Given the description of an element on the screen output the (x, y) to click on. 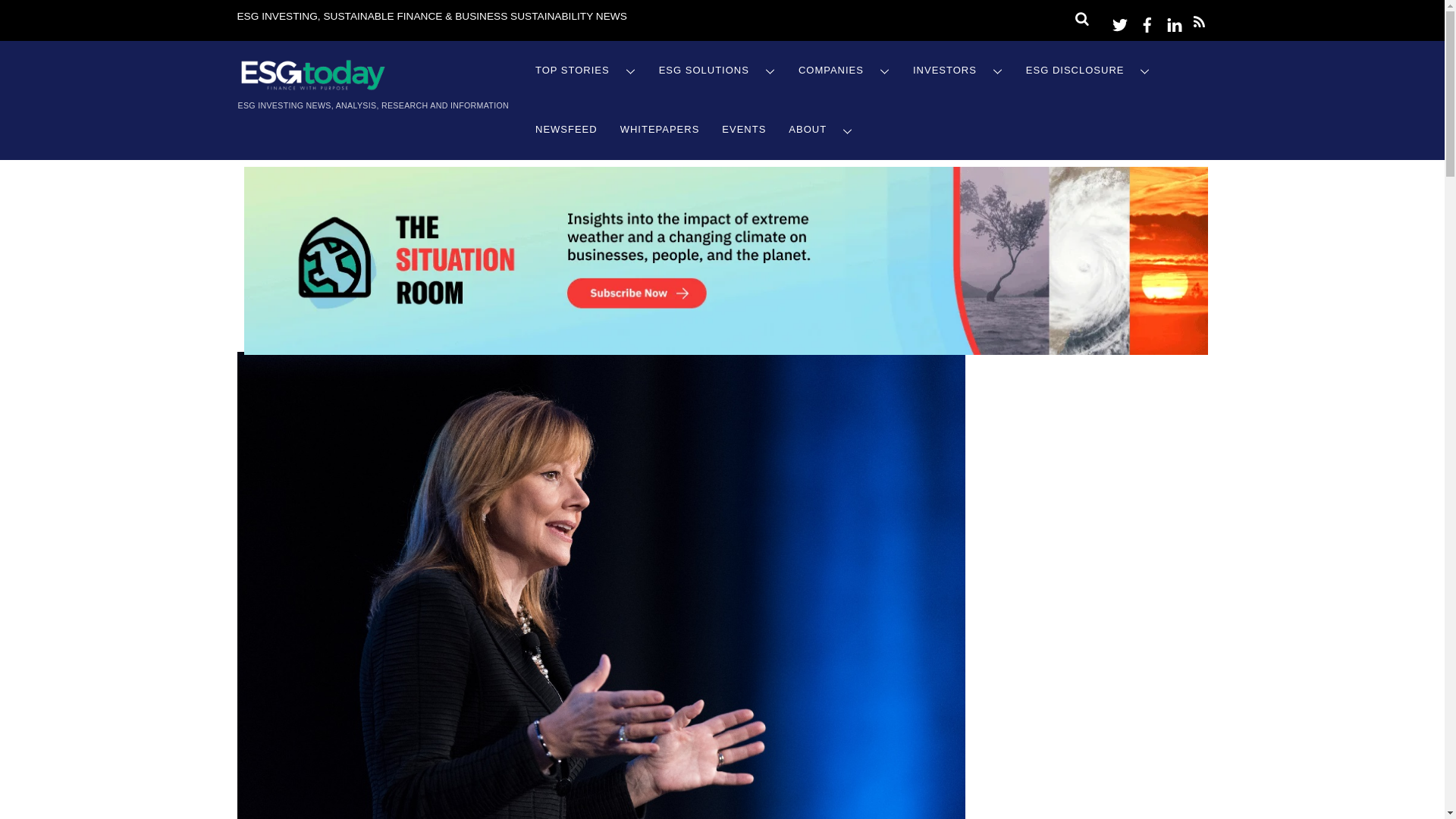
EVENTS (743, 129)
INVESTORS (957, 70)
TOP STORIES (585, 70)
ABOUT (820, 129)
ESG Today (311, 86)
NEWSFEED (566, 129)
COMPANIES (844, 70)
WHITEPAPERS (659, 129)
ESG DISCLOSURE (1087, 70)
ESG SOLUTIONS (717, 70)
